Given the description of an element on the screen output the (x, y) to click on. 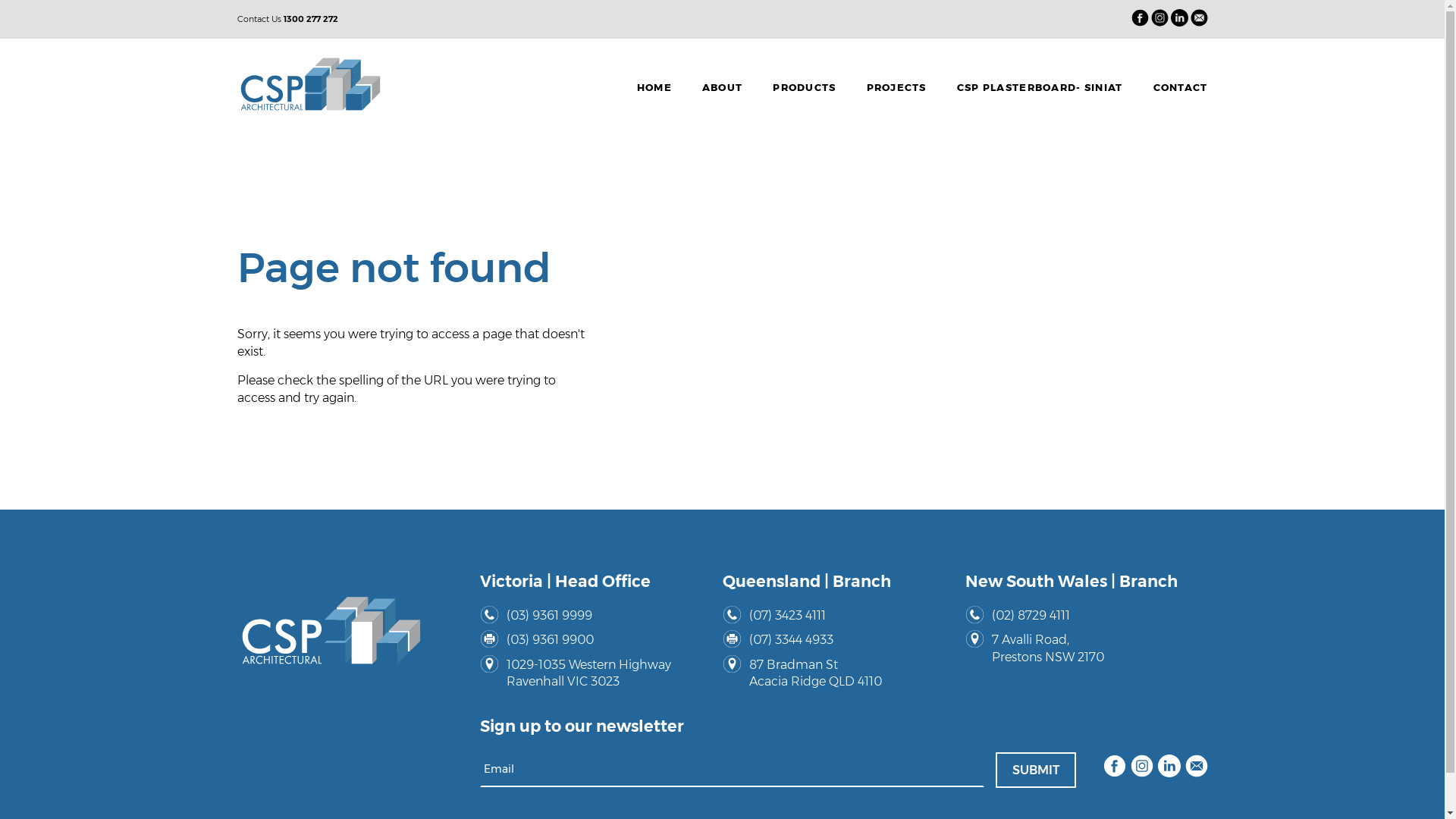
(07) 3423 4111 Element type: text (839, 615)
Instagram Element type: hover (1159, 19)
(03) 9361 9999 Element type: text (596, 615)
submit Element type: text (1034, 769)
87 Bradman St
Acacia Ridge QLD 4110 Element type: text (839, 673)
ABOUT Element type: text (722, 84)
Facebook Element type: hover (1139, 19)
(02) 8729 4111 Element type: text (1081, 615)
1029-1035 Western Highway
Ravenhall VIC 3023 Element type: text (596, 673)
(03) 9361 9900 Element type: text (596, 639)
Instagram Element type: hover (1140, 767)
PROJECTS Element type: text (896, 84)
(07) 3344 4933 Element type: text (839, 639)
7 Avalli Road,
Prestons NSW 2170 Element type: text (1081, 648)
HOME Element type: text (654, 84)
Facebook Element type: hover (1113, 767)
PRODUCTS Element type: text (803, 84)
CONTACT Element type: text (1173, 84)
CSP PLASTERBOARD- SINIAT Element type: text (1039, 84)
1300 277 272 Element type: text (310, 18)
